Given the description of an element on the screen output the (x, y) to click on. 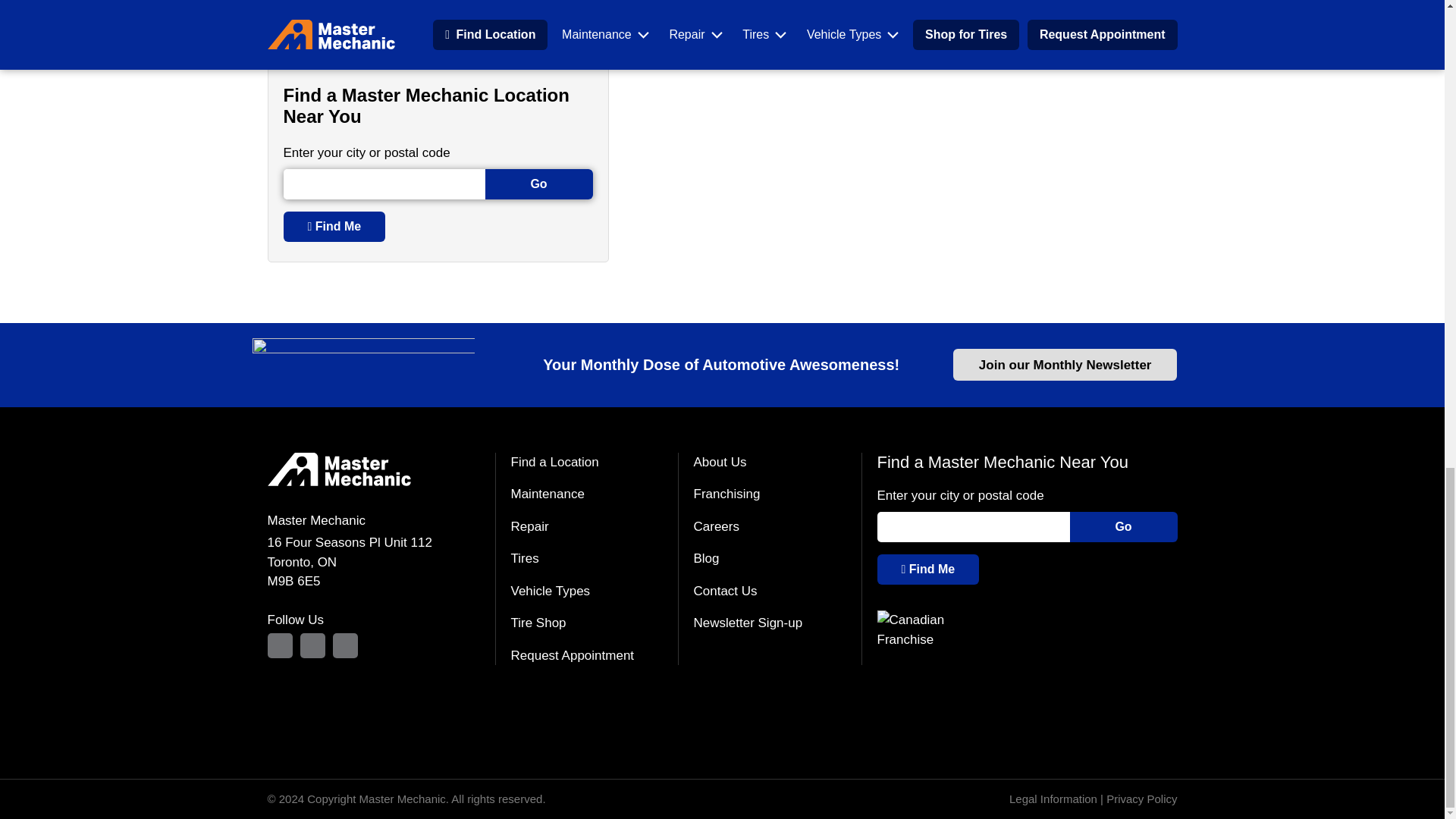
Facebook (311, 645)
Instagram (279, 645)
YouTube (343, 645)
